Given the description of an element on the screen output the (x, y) to click on. 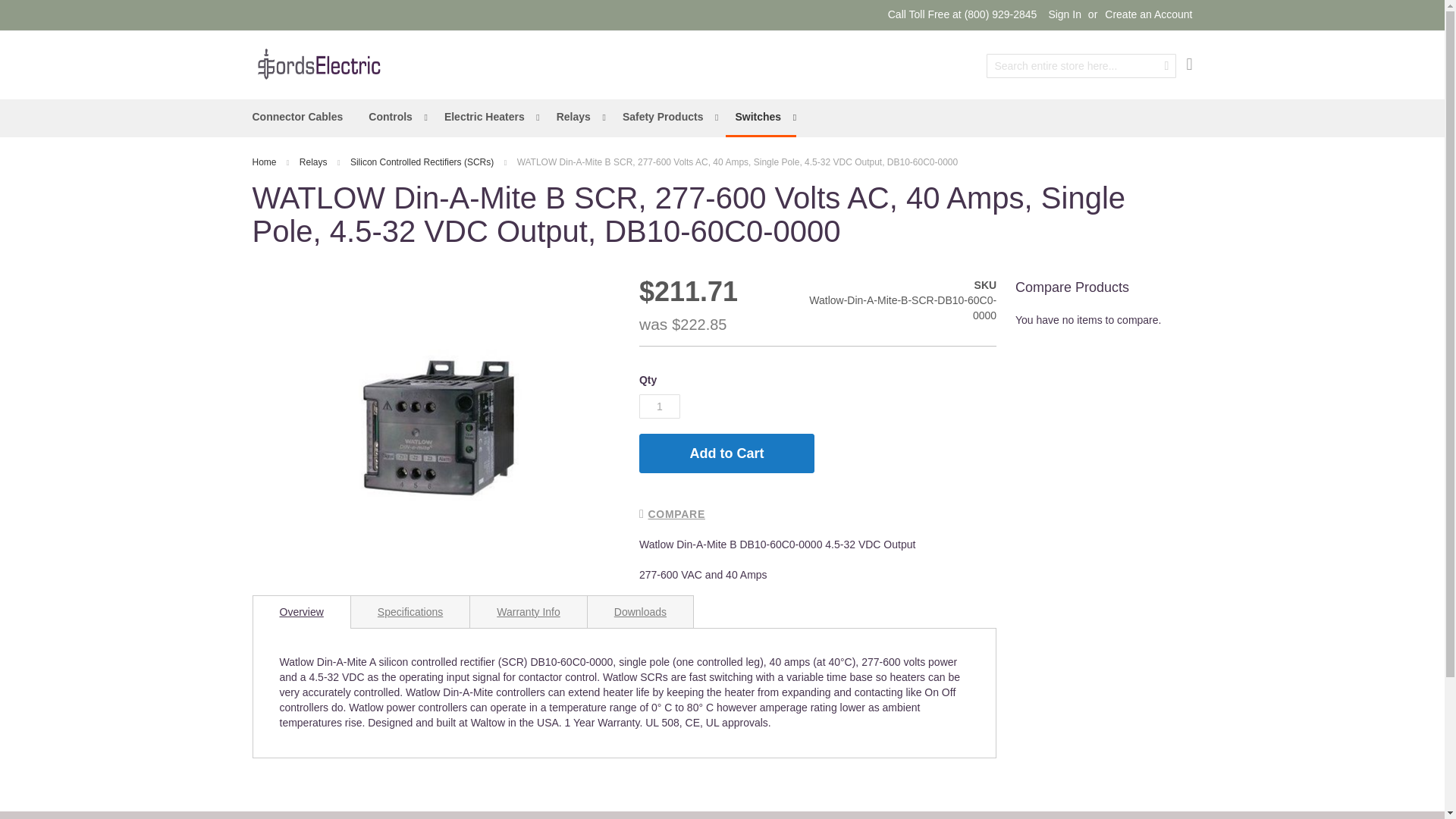
Sign In (1064, 14)
Go to Home Page (264, 162)
Qty (659, 405)
Relays (314, 162)
Create an Account (1148, 14)
1 (659, 405)
Electric Heaters (487, 117)
Connector Cables (297, 117)
Sords Electric (317, 63)
Controls (393, 117)
Add to Cart (726, 453)
